Given the description of an element on the screen output the (x, y) to click on. 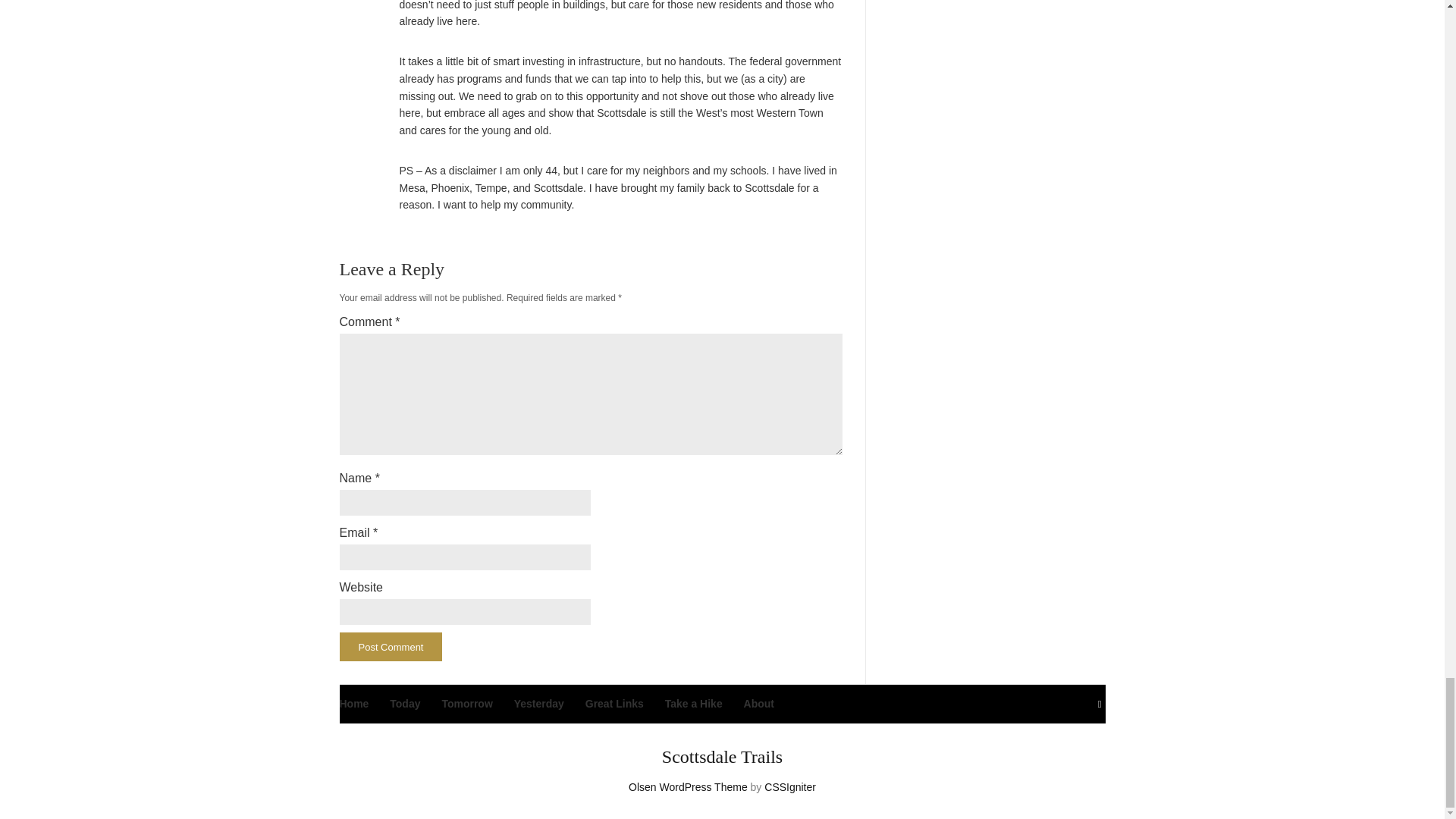
Post Comment (390, 646)
Blogging theme for WordPress (688, 787)
